Given the description of an element on the screen output the (x, y) to click on. 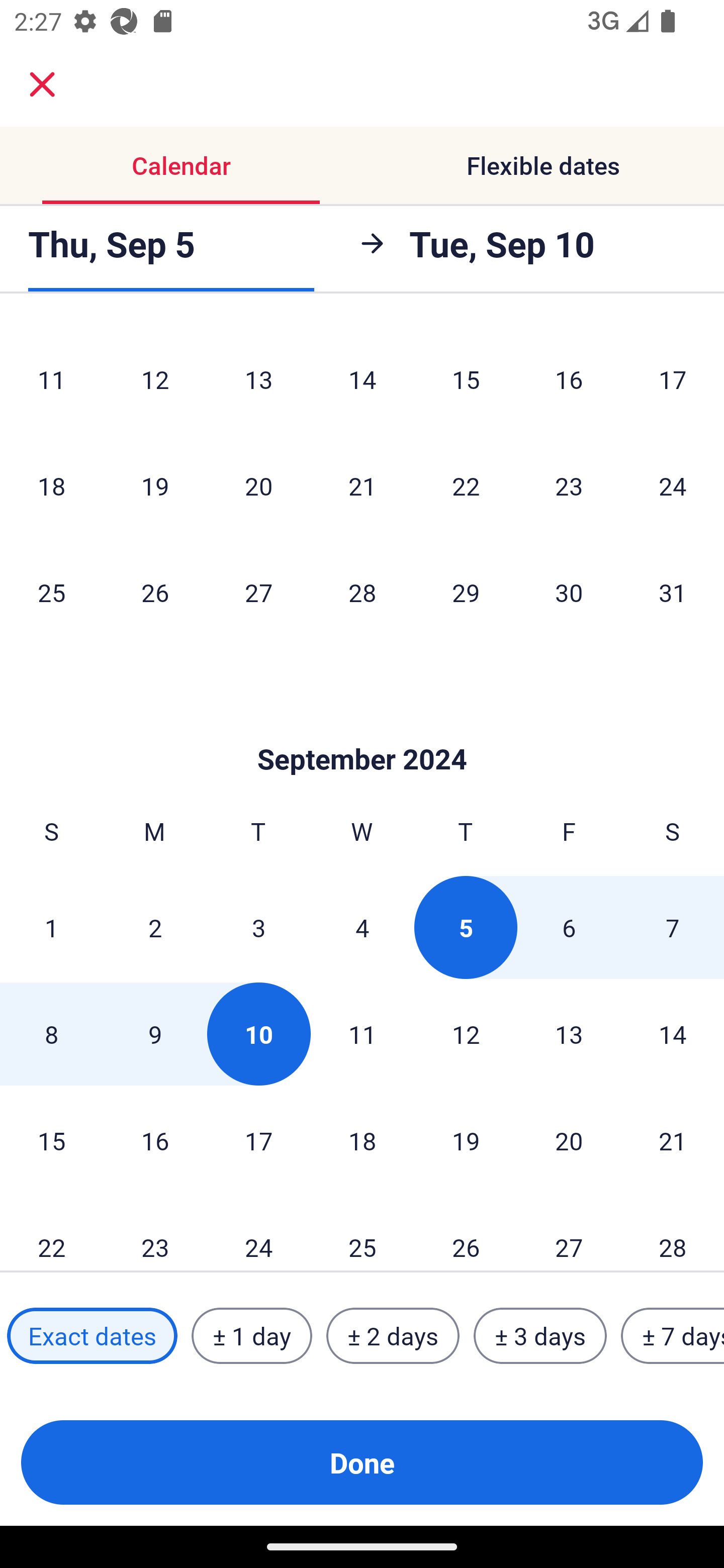
close. (42, 84)
Flexible dates (542, 164)
11 Sunday, August 11, 2024 (51, 379)
12 Monday, August 12, 2024 (155, 379)
13 Tuesday, August 13, 2024 (258, 379)
14 Wednesday, August 14, 2024 (362, 379)
15 Thursday, August 15, 2024 (465, 379)
16 Friday, August 16, 2024 (569, 379)
17 Saturday, August 17, 2024 (672, 379)
18 Sunday, August 18, 2024 (51, 485)
19 Monday, August 19, 2024 (155, 485)
20 Tuesday, August 20, 2024 (258, 485)
21 Wednesday, August 21, 2024 (362, 485)
22 Thursday, August 22, 2024 (465, 485)
23 Friday, August 23, 2024 (569, 485)
24 Saturday, August 24, 2024 (672, 485)
25 Sunday, August 25, 2024 (51, 592)
26 Monday, August 26, 2024 (155, 592)
27 Tuesday, August 27, 2024 (258, 592)
28 Wednesday, August 28, 2024 (362, 592)
29 Thursday, August 29, 2024 (465, 592)
30 Friday, August 30, 2024 (569, 592)
31 Saturday, August 31, 2024 (672, 592)
Skip to Done (362, 728)
1 Sunday, September 1, 2024 (51, 927)
2 Monday, September 2, 2024 (155, 927)
3 Tuesday, September 3, 2024 (258, 927)
4 Wednesday, September 4, 2024 (362, 927)
11 Wednesday, September 11, 2024 (362, 1034)
12 Thursday, September 12, 2024 (465, 1034)
13 Friday, September 13, 2024 (569, 1034)
14 Saturday, September 14, 2024 (672, 1034)
15 Sunday, September 15, 2024 (51, 1140)
16 Monday, September 16, 2024 (155, 1140)
17 Tuesday, September 17, 2024 (258, 1140)
18 Wednesday, September 18, 2024 (362, 1140)
19 Thursday, September 19, 2024 (465, 1140)
20 Friday, September 20, 2024 (569, 1140)
21 Saturday, September 21, 2024 (672, 1140)
22 Sunday, September 22, 2024 (51, 1232)
23 Monday, September 23, 2024 (155, 1232)
24 Tuesday, September 24, 2024 (258, 1232)
25 Wednesday, September 25, 2024 (362, 1232)
26 Thursday, September 26, 2024 (465, 1232)
27 Friday, September 27, 2024 (569, 1232)
28 Saturday, September 28, 2024 (672, 1232)
Exact dates (92, 1335)
± 1 day (251, 1335)
± 2 days (392, 1335)
± 3 days (539, 1335)
± 7 days (672, 1335)
Done (361, 1462)
